Given the description of an element on the screen output the (x, y) to click on. 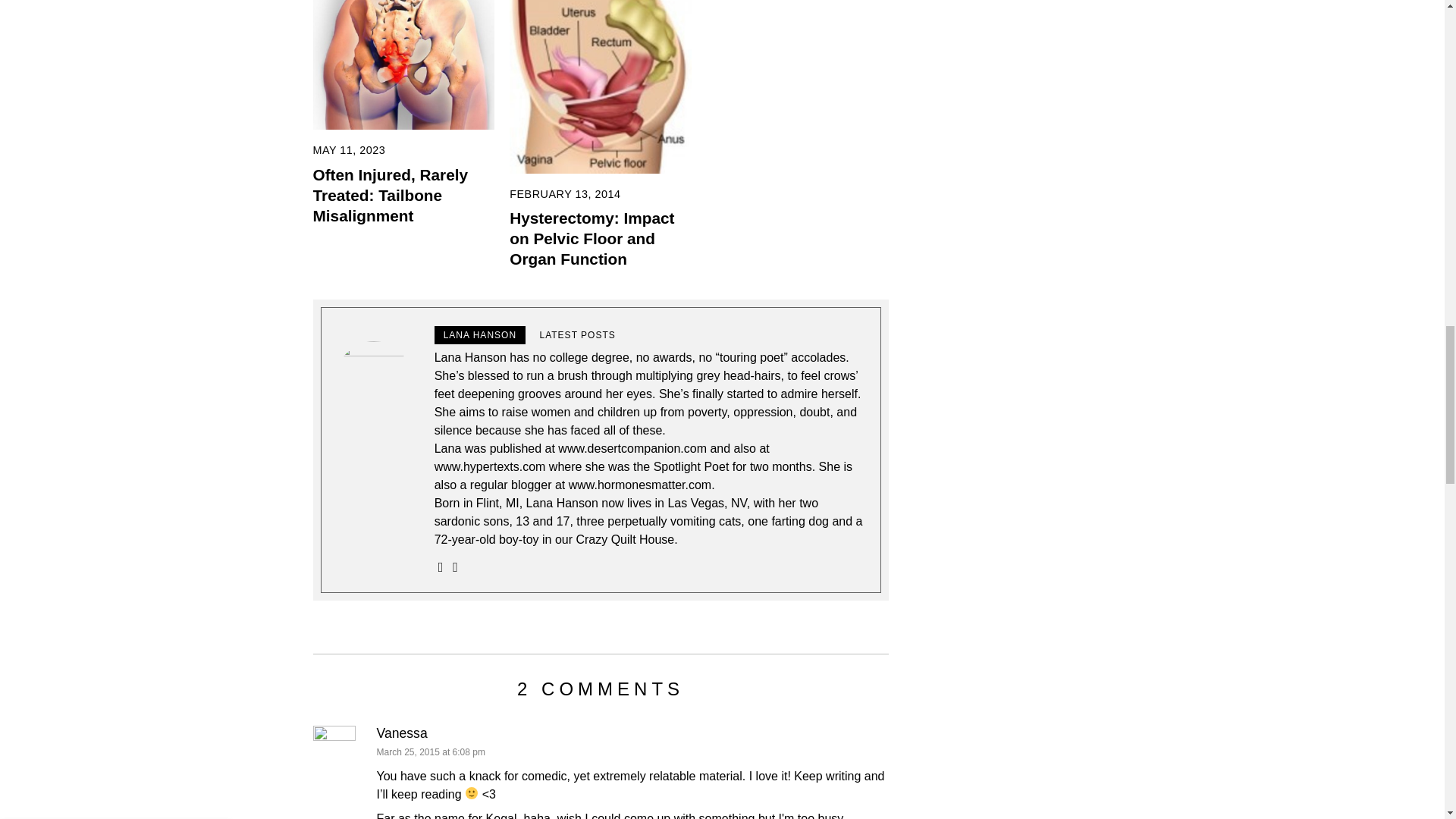
Often Injured, Rarely Treated: Tailbone Misalignment (390, 195)
LATEST POSTS (577, 334)
LANA HANSON (479, 334)
Hysterectomy: Impact on Pelvic Floor and Organ Function (591, 238)
